Given the description of an element on the screen output the (x, y) to click on. 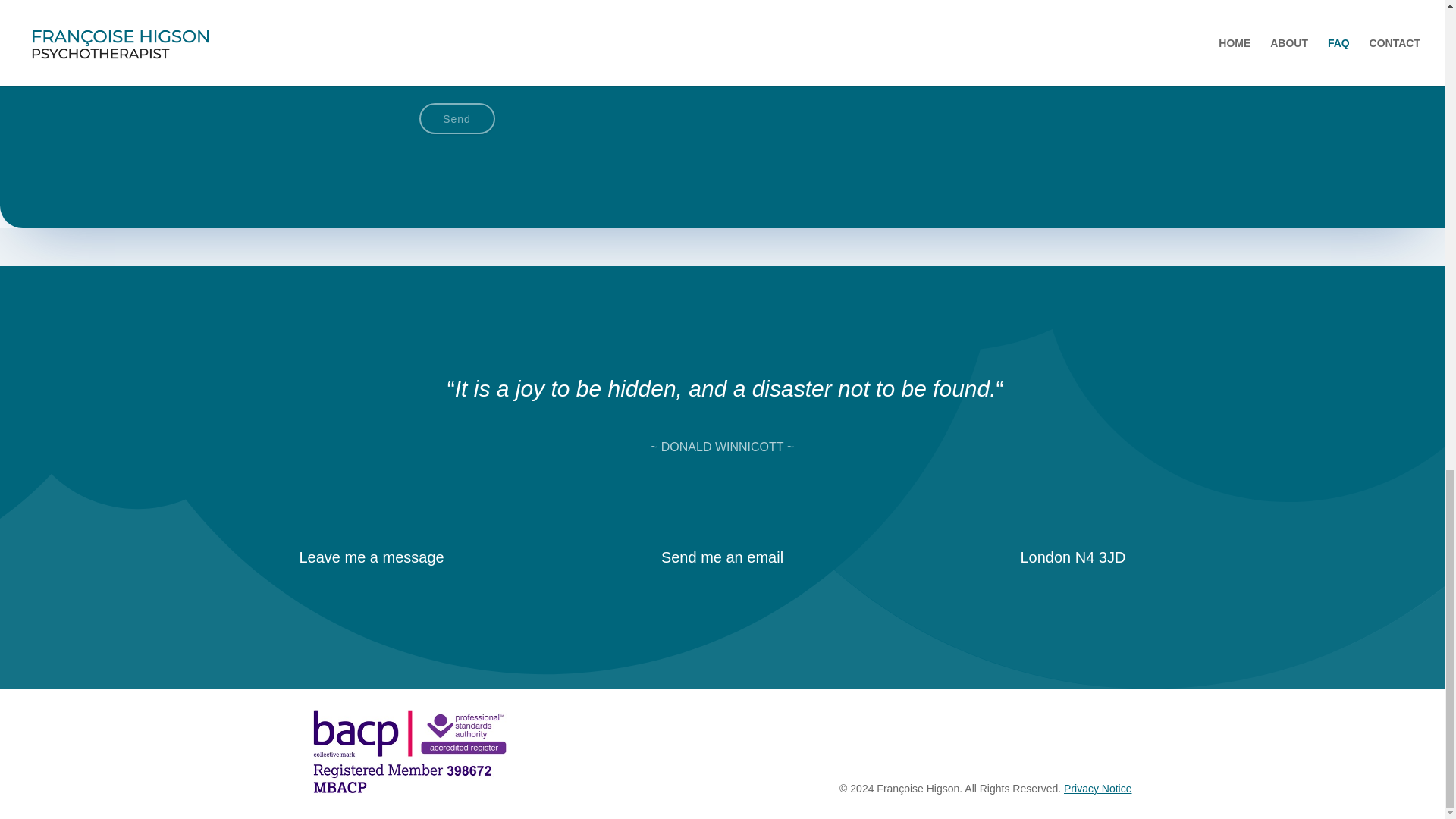
Send me an email (722, 556)
Send (457, 118)
Privacy Notice (1097, 788)
francoise-higson-BACP-398672 (409, 753)
Leave me a message (371, 556)
London N4 3JD (1072, 556)
